Given the description of an element on the screen output the (x, y) to click on. 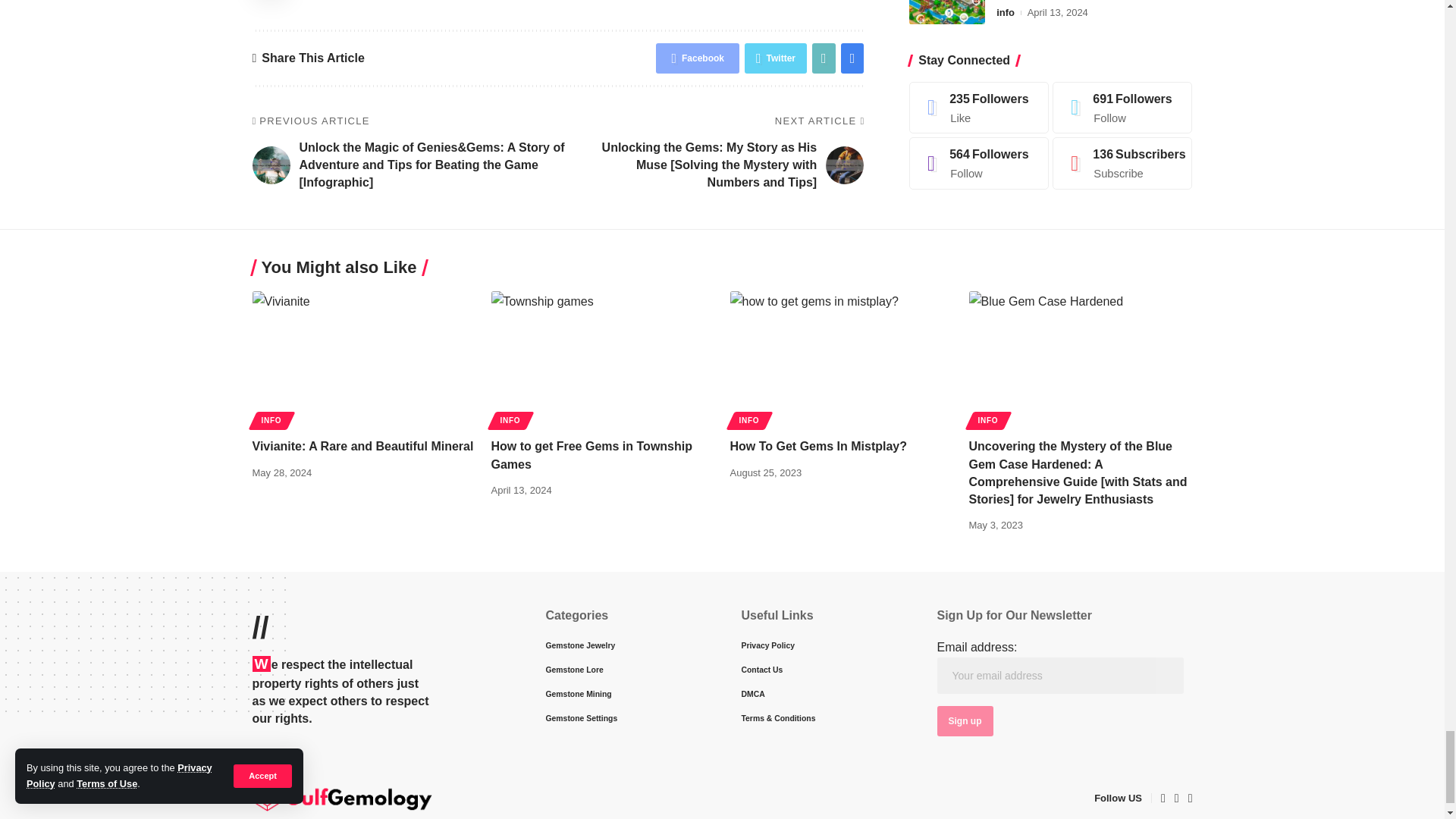
Vivianite: A Rare and Beautiful Mineral (363, 358)
Sign up (964, 720)
